Given the description of an element on the screen output the (x, y) to click on. 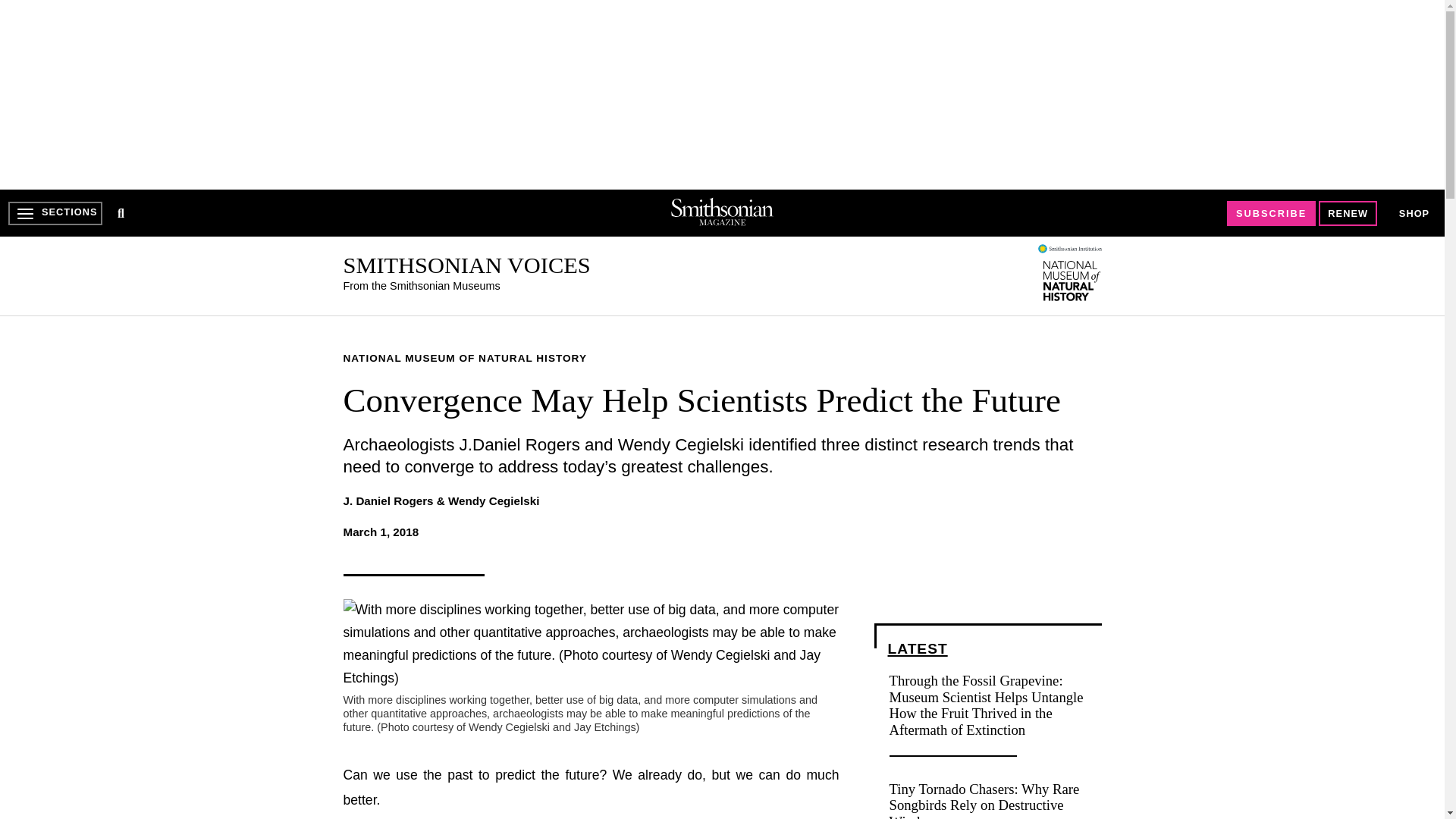
RENEW (1347, 212)
SHOP (1414, 213)
SHOP (1413, 212)
RENEW (1348, 213)
SUBSCRIBE (1271, 212)
SECTIONS (55, 213)
SUBSCRIBE (1271, 213)
